Given the description of an element on the screen output the (x, y) to click on. 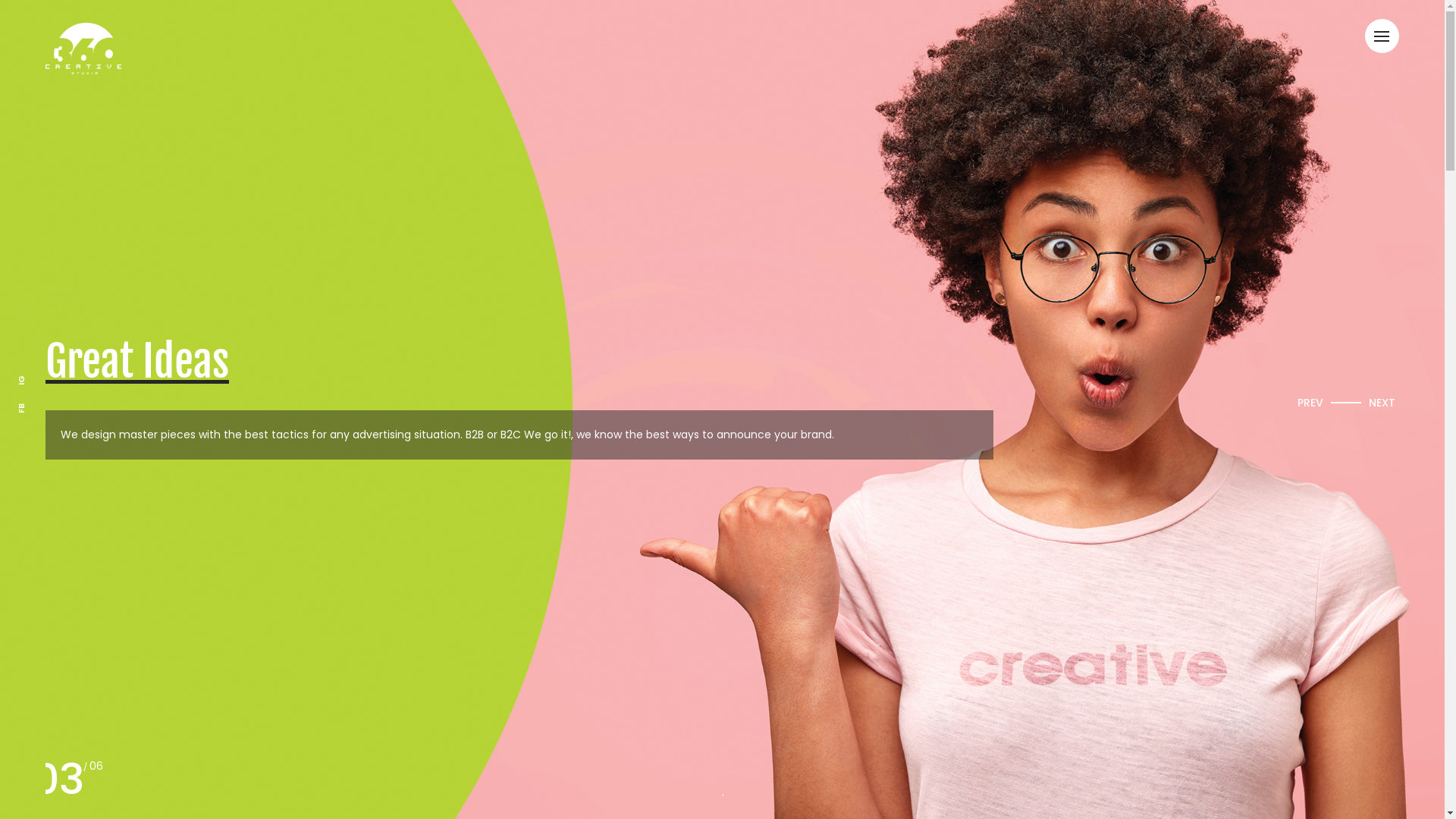
FB Element type: text (20, 409)
IG Element type: text (20, 381)
360 Creative Studio Element type: hover (721, 512)
360 Creative Studio Element type: hover (83, 48)
LET'S BE IN TOUCH Element type: text (721, 683)
